Given the description of an element on the screen output the (x, y) to click on. 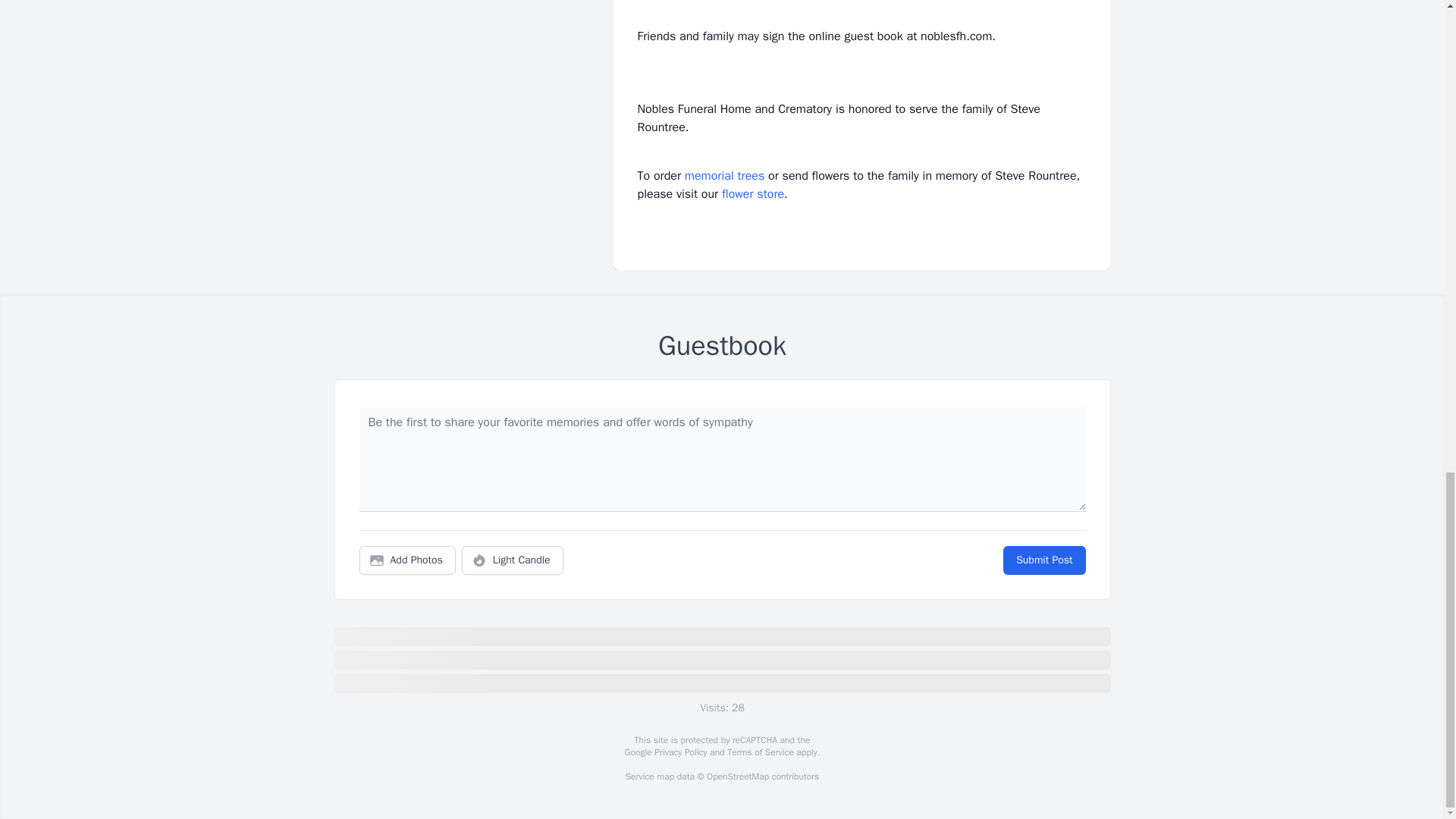
Submit Post (1043, 560)
Privacy Policy (679, 752)
Add Photos (407, 560)
flower store (753, 193)
OpenStreetMap (737, 776)
Light Candle (512, 560)
memorial trees (724, 175)
Terms of Service (759, 752)
